Given the description of an element on the screen output the (x, y) to click on. 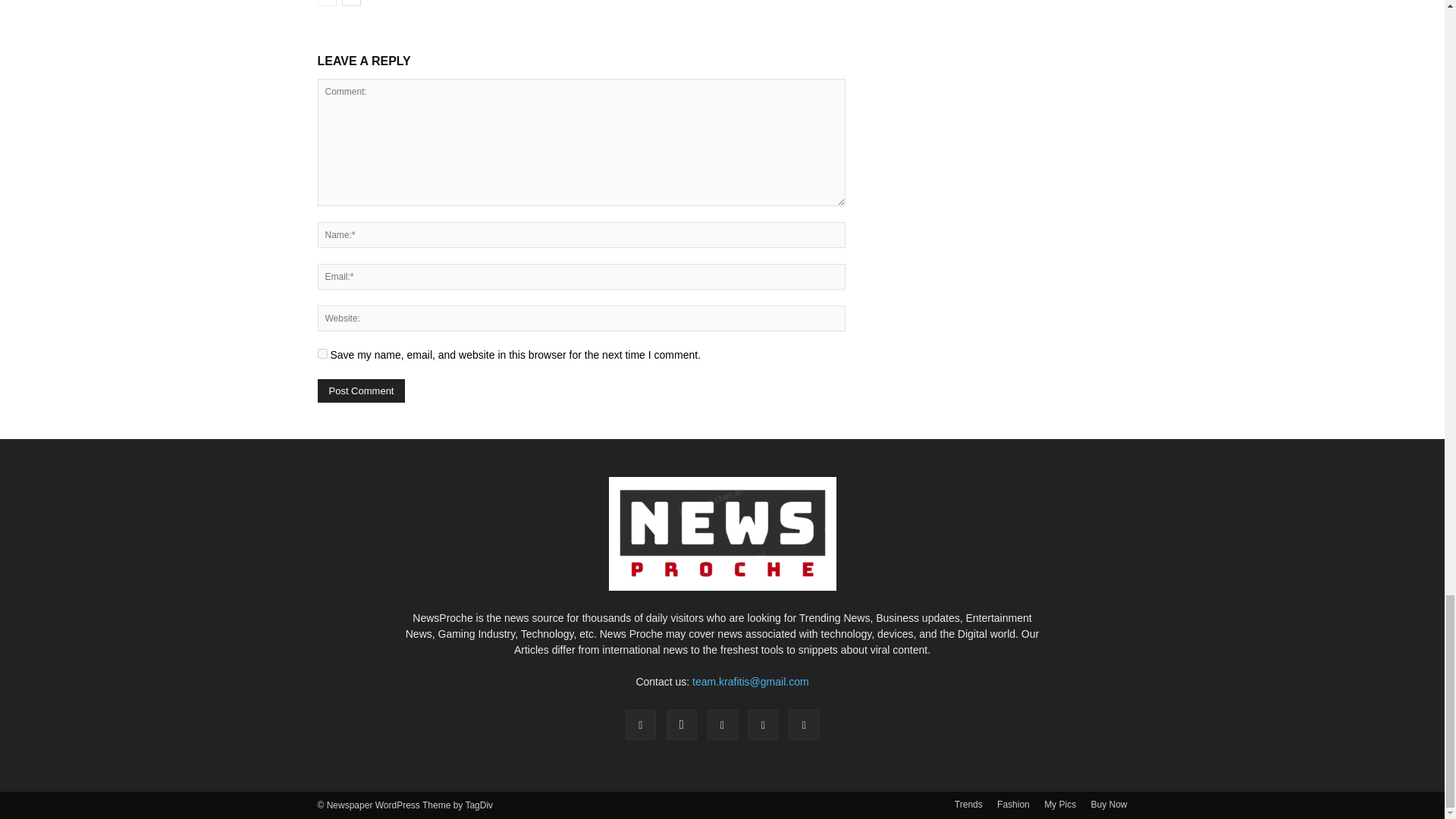
yes (321, 353)
Post Comment (360, 390)
